Given the description of an element on the screen output the (x, y) to click on. 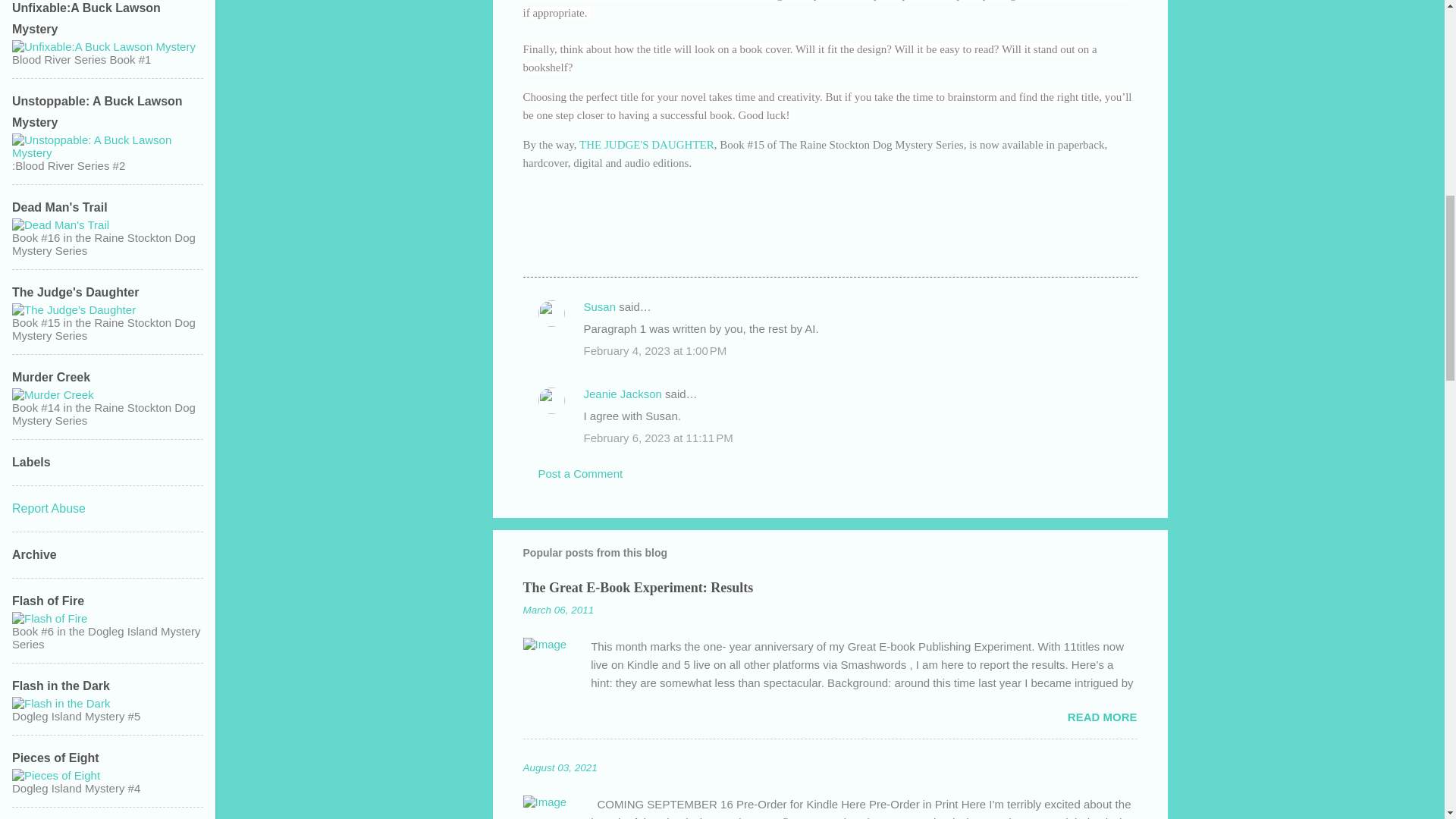
Jeanie Jackson (622, 393)
THE JUDGE'S DAUGHTER (646, 143)
March 06, 2011 (558, 609)
Post a Comment (580, 472)
The Great E-Book Experiment: Results (638, 587)
Susan (599, 306)
READ MORE (1102, 716)
comment permalink (654, 350)
August 03, 2021 (559, 767)
